Given the description of an element on the screen output the (x, y) to click on. 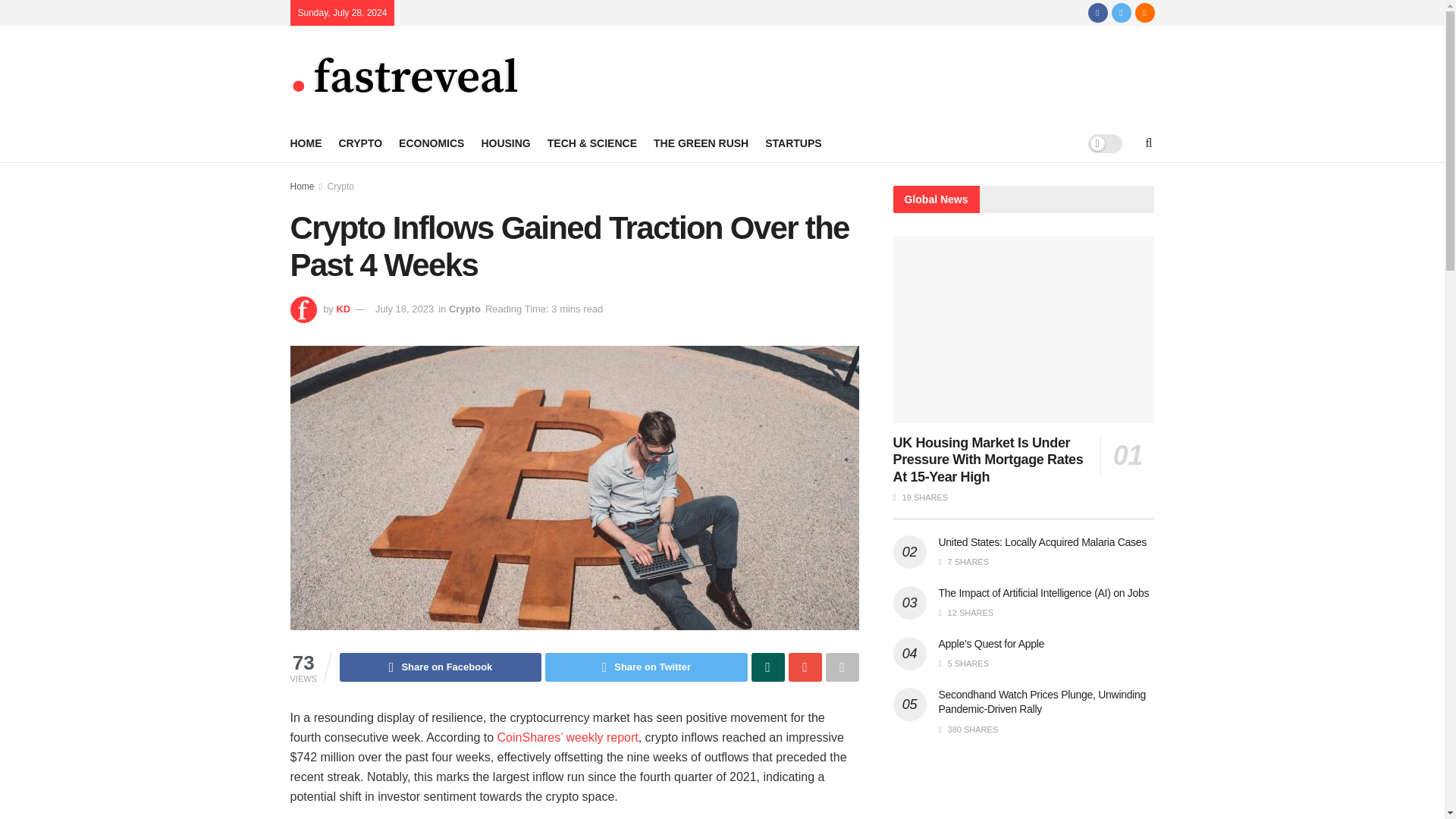
Home (301, 185)
KD (343, 308)
CRYPTO (359, 142)
HOME (305, 142)
ECONOMICS (431, 142)
STARTUPS (793, 142)
THE GREEN RUSH (700, 142)
July 18, 2023 (404, 308)
HOUSING (504, 142)
Crypto (340, 185)
